Given the description of an element on the screen output the (x, y) to click on. 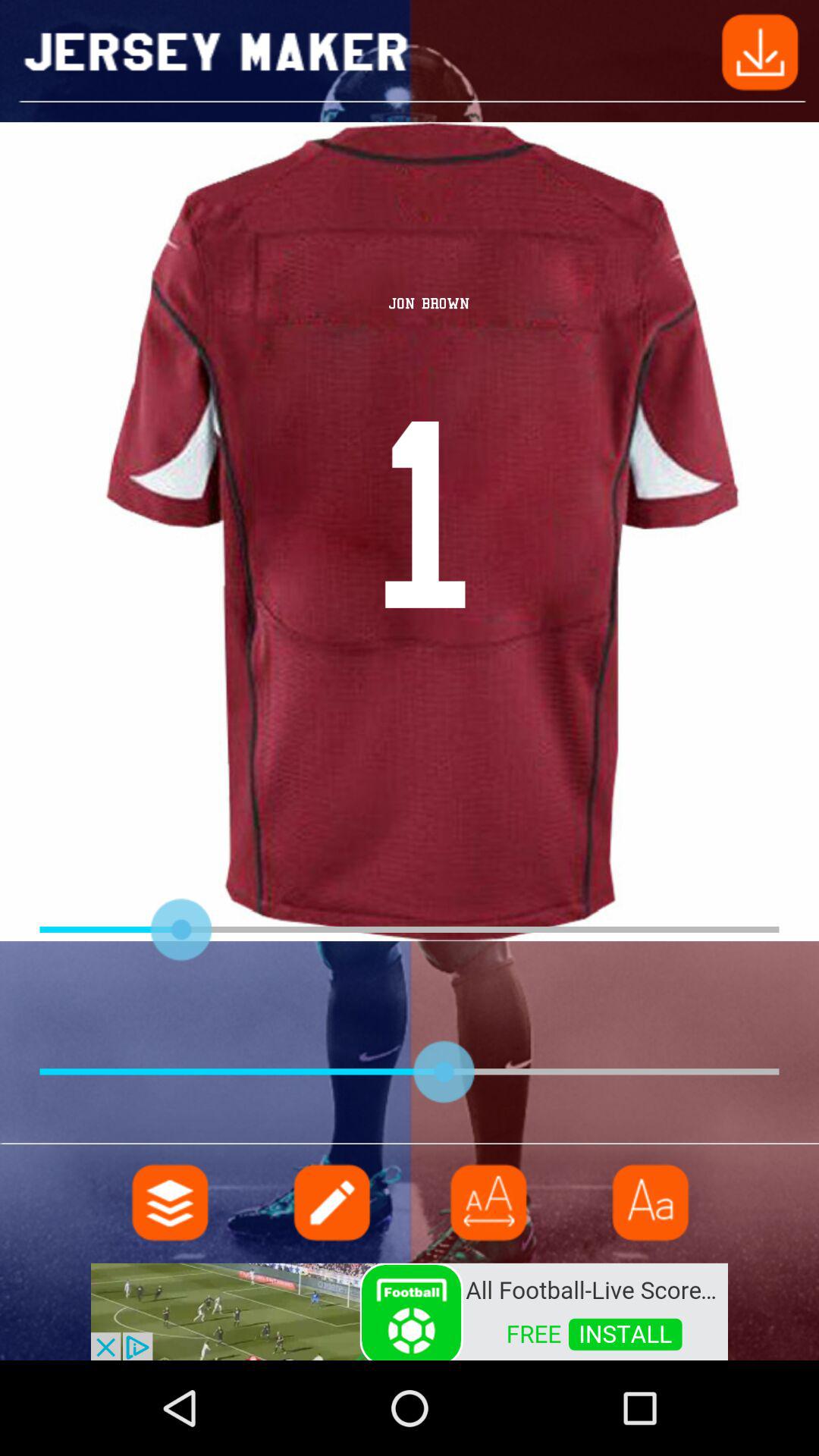
adjust option (488, 1202)
